Given the description of an element on the screen output the (x, y) to click on. 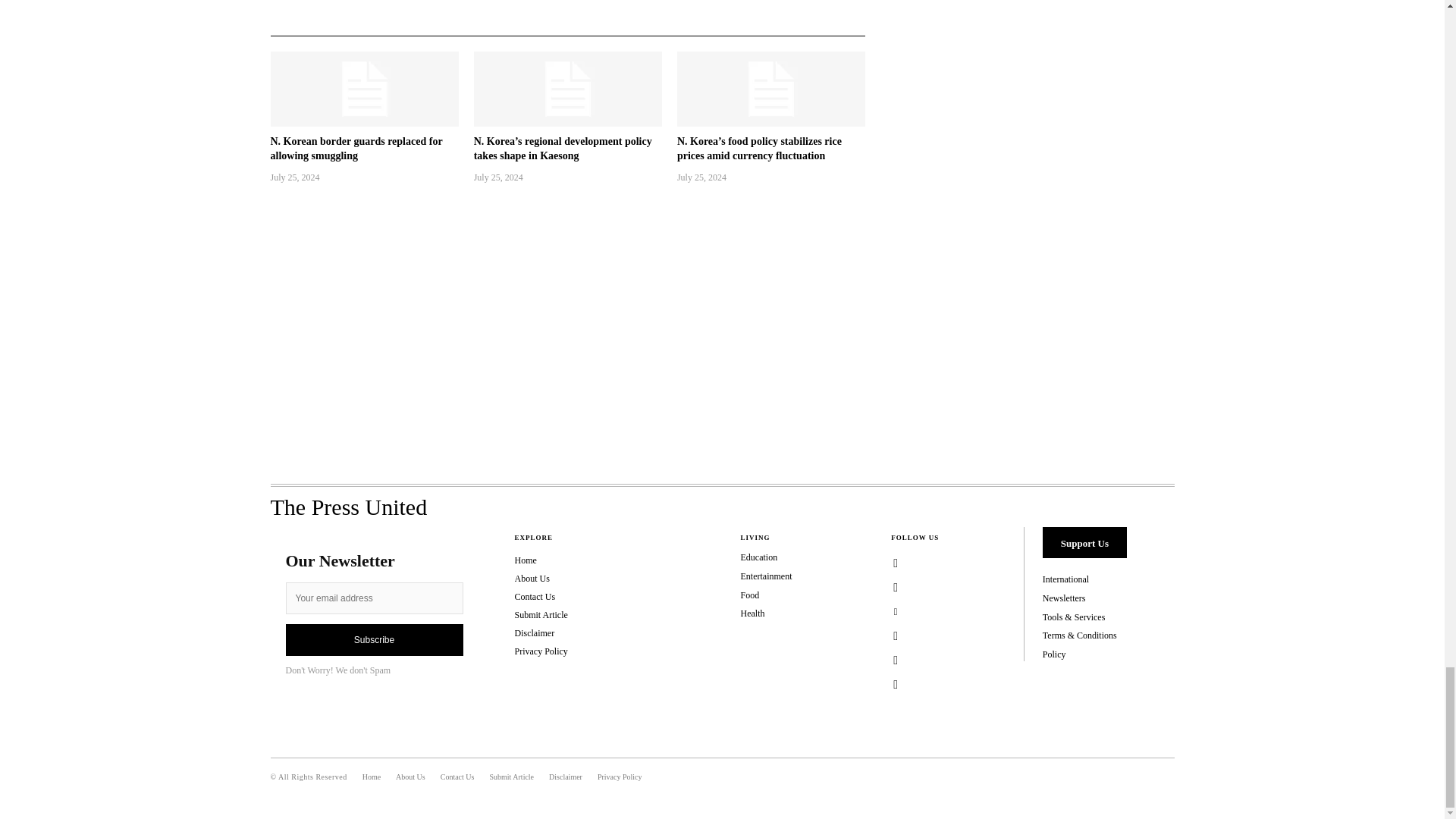
N. Korean border guards replaced for allowing smuggling (363, 88)
N. Korean border guards replaced for allowing smuggling (355, 148)
